Given the description of an element on the screen output the (x, y) to click on. 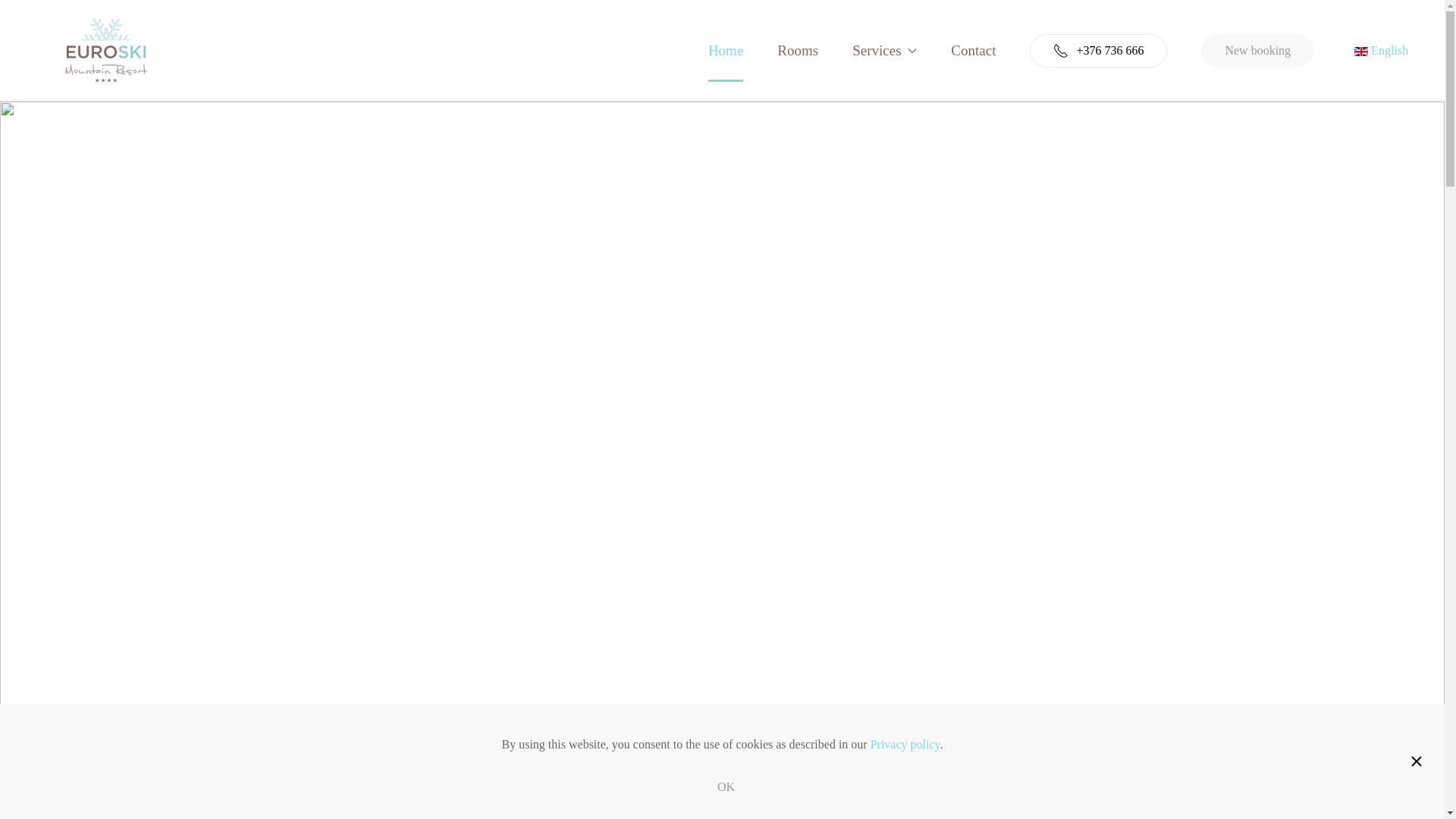
Hotel Euroski (706, 794)
Hotel Euroski (674, 794)
New booking (1257, 49)
Hotel Euroski (770, 794)
English (1380, 50)
New booking (1257, 49)
Hotel Euroski (738, 794)
Services (884, 49)
